Given the description of an element on the screen output the (x, y) to click on. 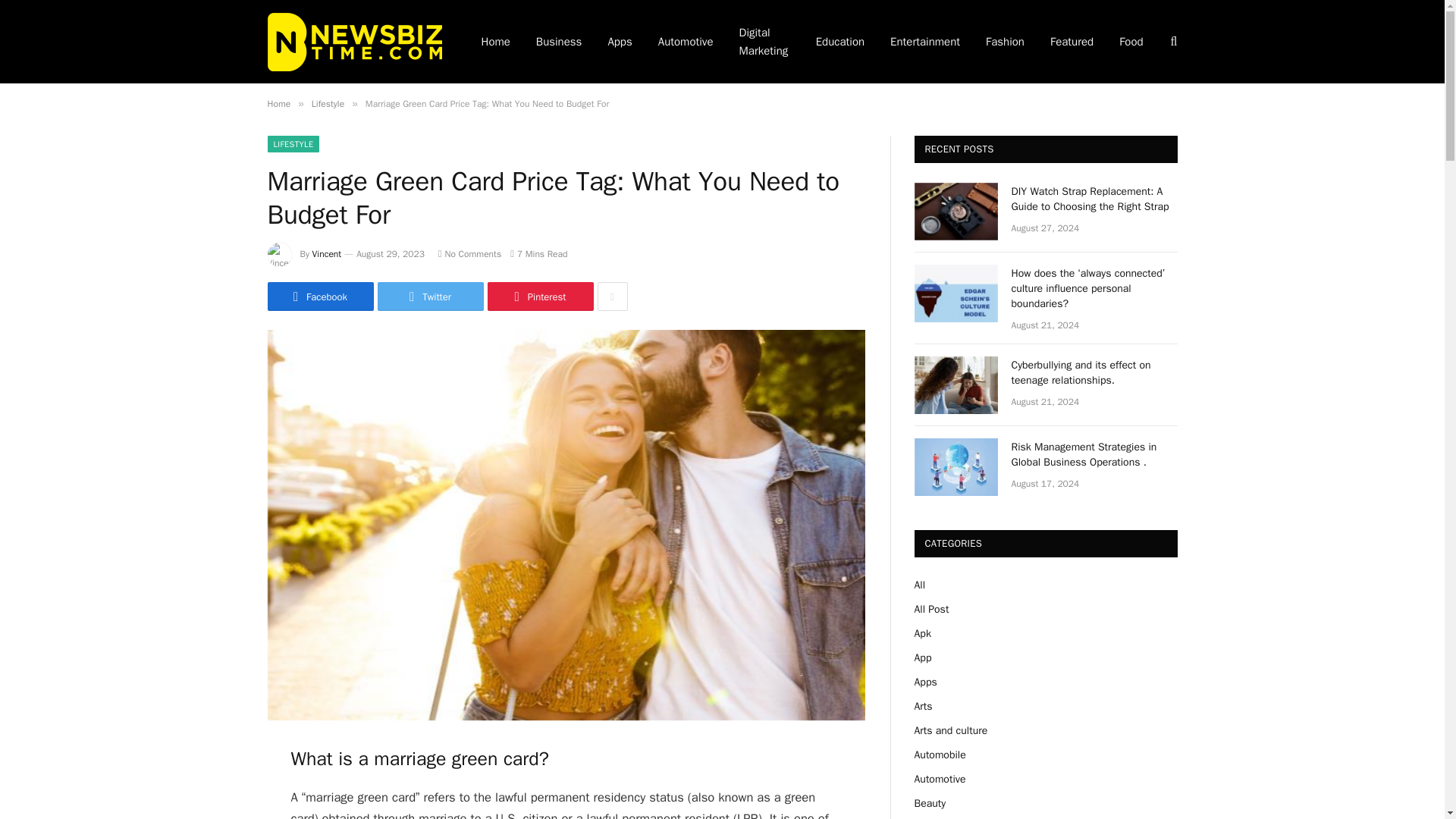
Pinterest (539, 296)
Home (277, 103)
Posts by Vincent (327, 254)
Share on Facebook (319, 296)
Newsbiztime.com (353, 40)
Show More Social Sharing (611, 296)
No Comments (469, 254)
Entertainment (924, 41)
Vincent (327, 254)
LIFESTYLE (292, 143)
